Given the description of an element on the screen output the (x, y) to click on. 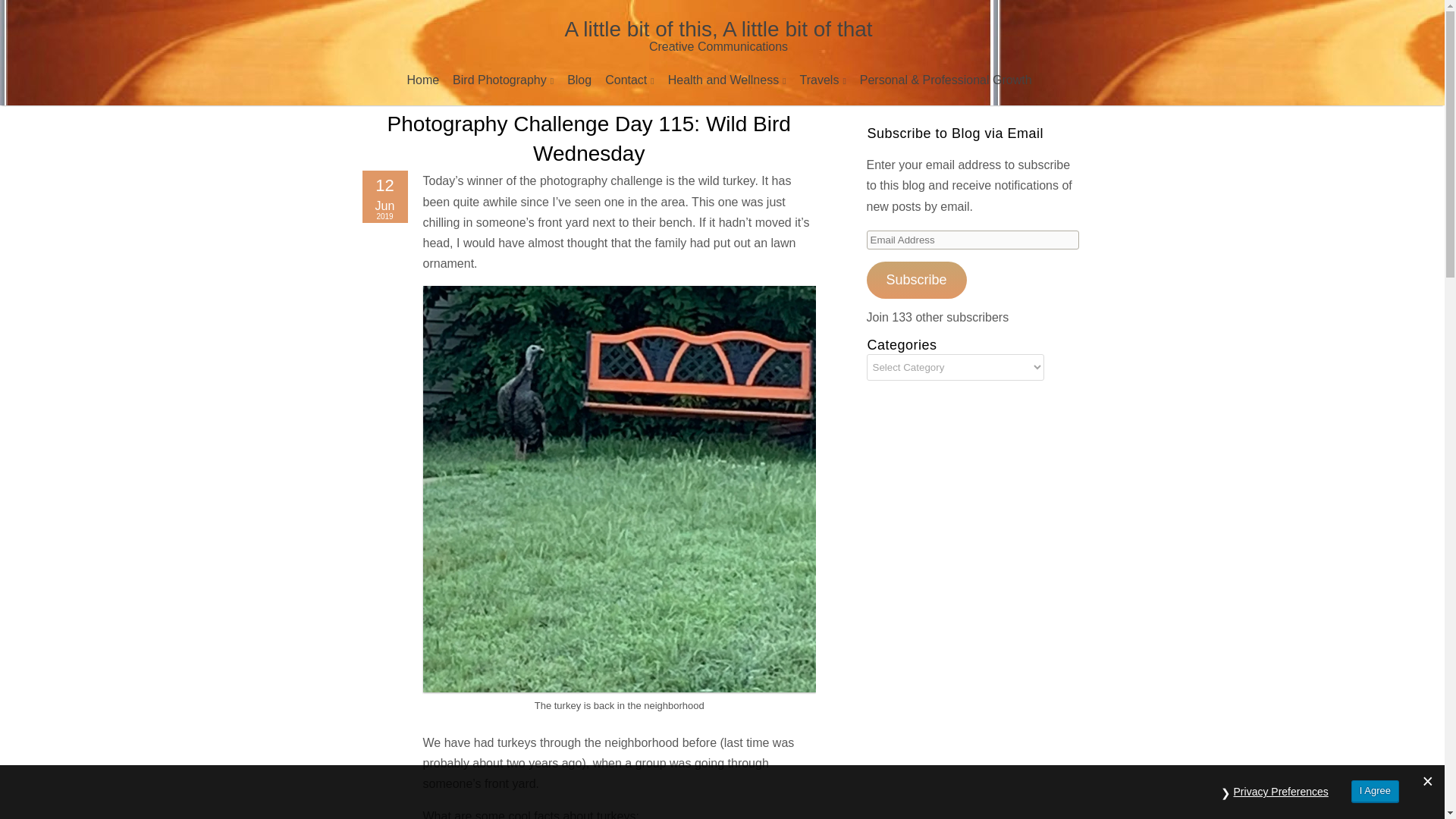
A little bit of this, A little bit of that (718, 35)
Bird Photography (502, 82)
Home (422, 82)
